Given the description of an element on the screen output the (x, y) to click on. 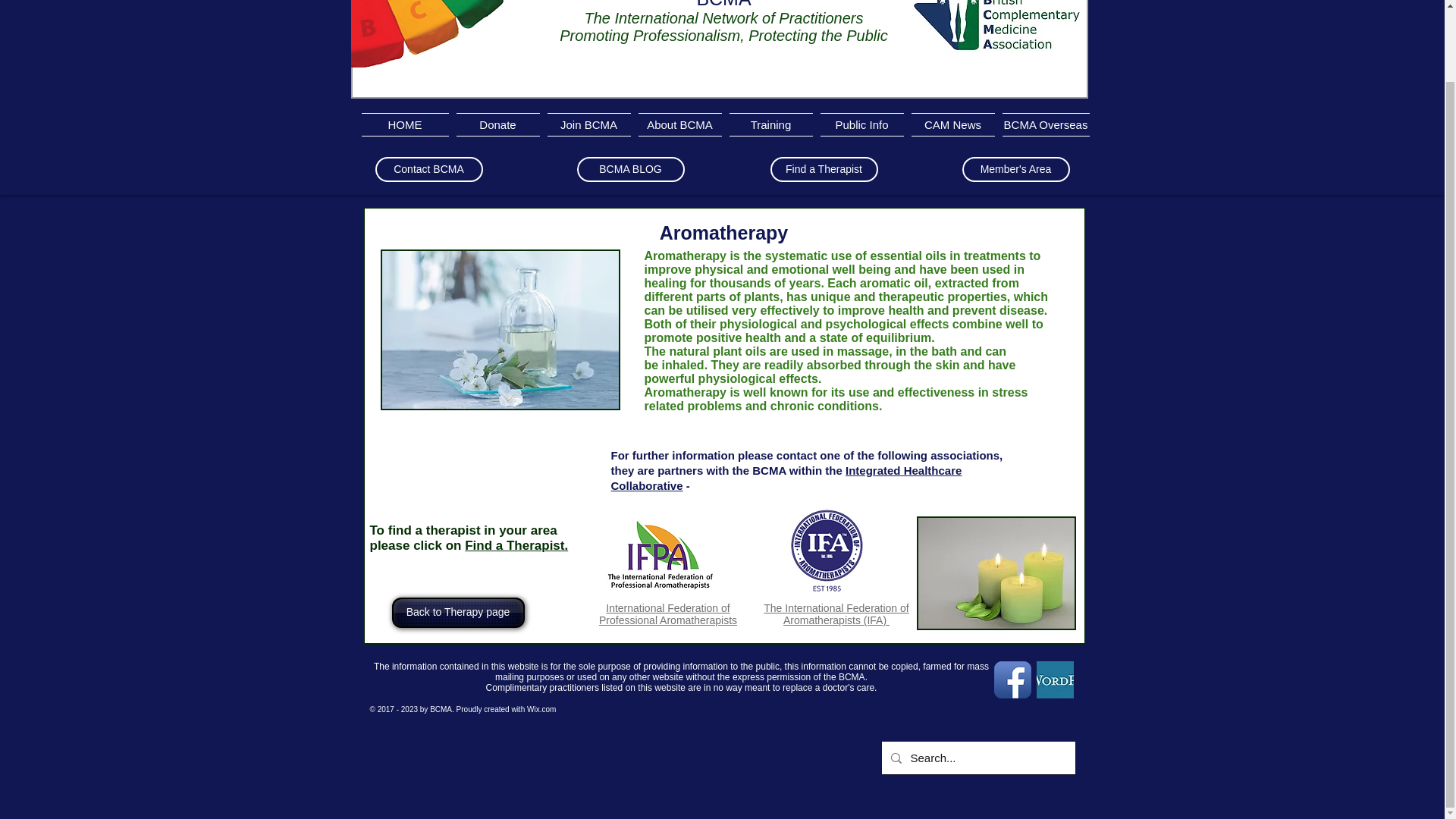
Find a Therapist (823, 169)
Donate (497, 124)
Public Info (861, 124)
BCMA BLOG (630, 169)
HOME (406, 124)
CAM News (952, 124)
Contact BCMA (427, 169)
Join BCMA (588, 124)
Wix.com (541, 709)
International Federation of Professional Aromatherapists (667, 613)
